Given the description of an element on the screen output the (x, y) to click on. 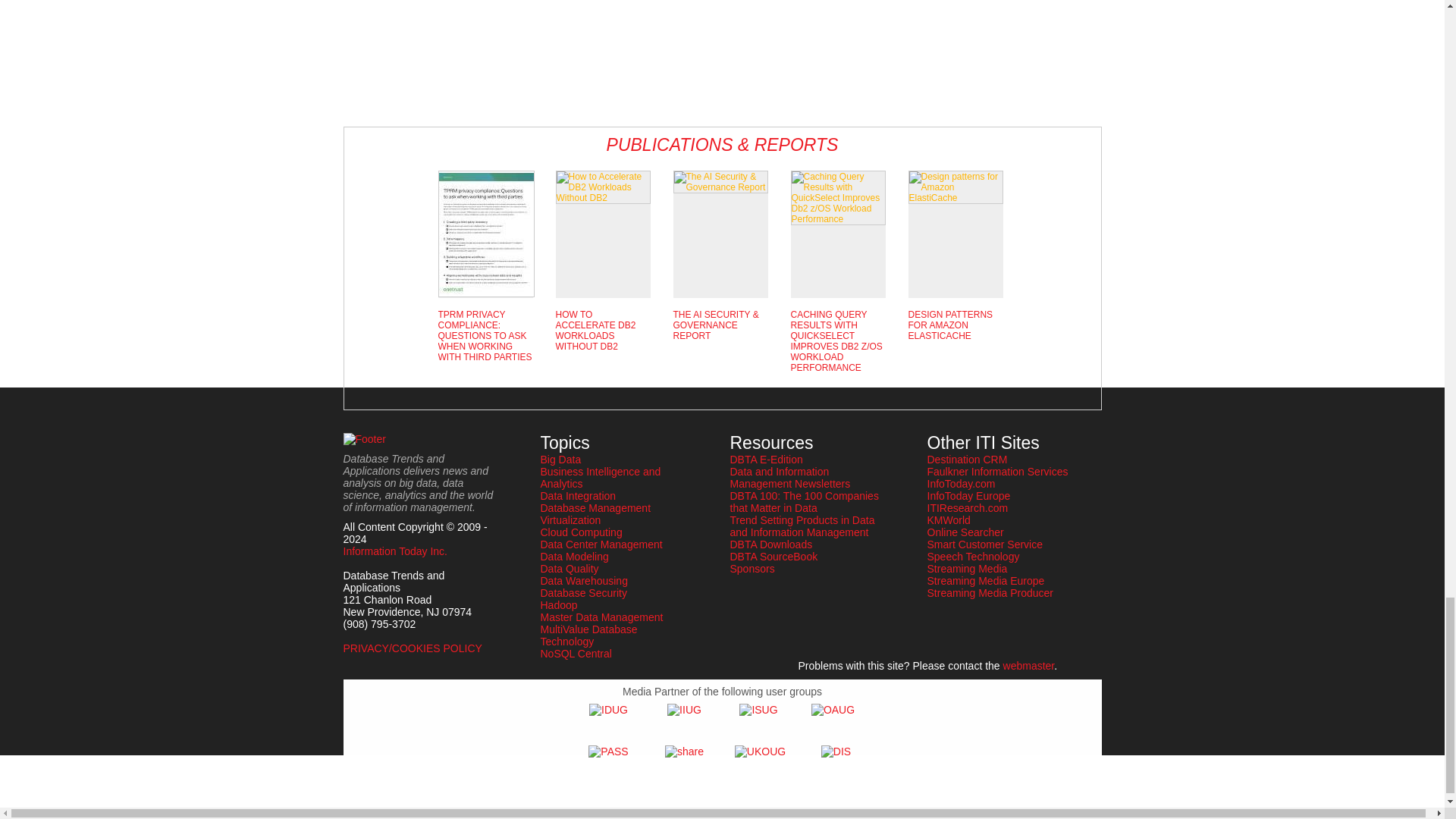
Design patterns for Amazon ElastiCache (955, 186)
How to Accelerate DB2 Workloads Without DB2 (601, 186)
